Given the description of an element on the screen output the (x, y) to click on. 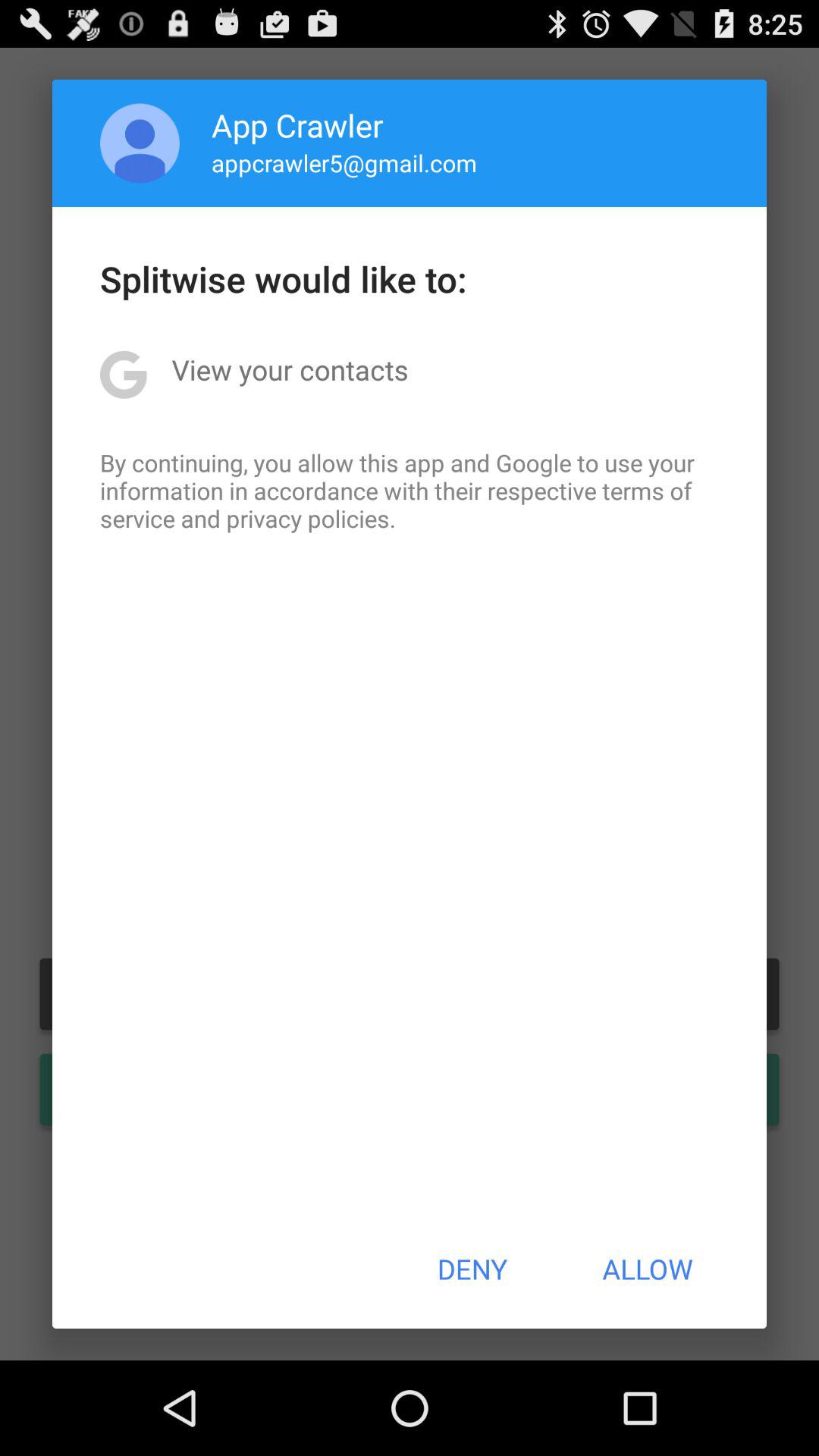
swipe to the view your contacts app (289, 369)
